Given the description of an element on the screen output the (x, y) to click on. 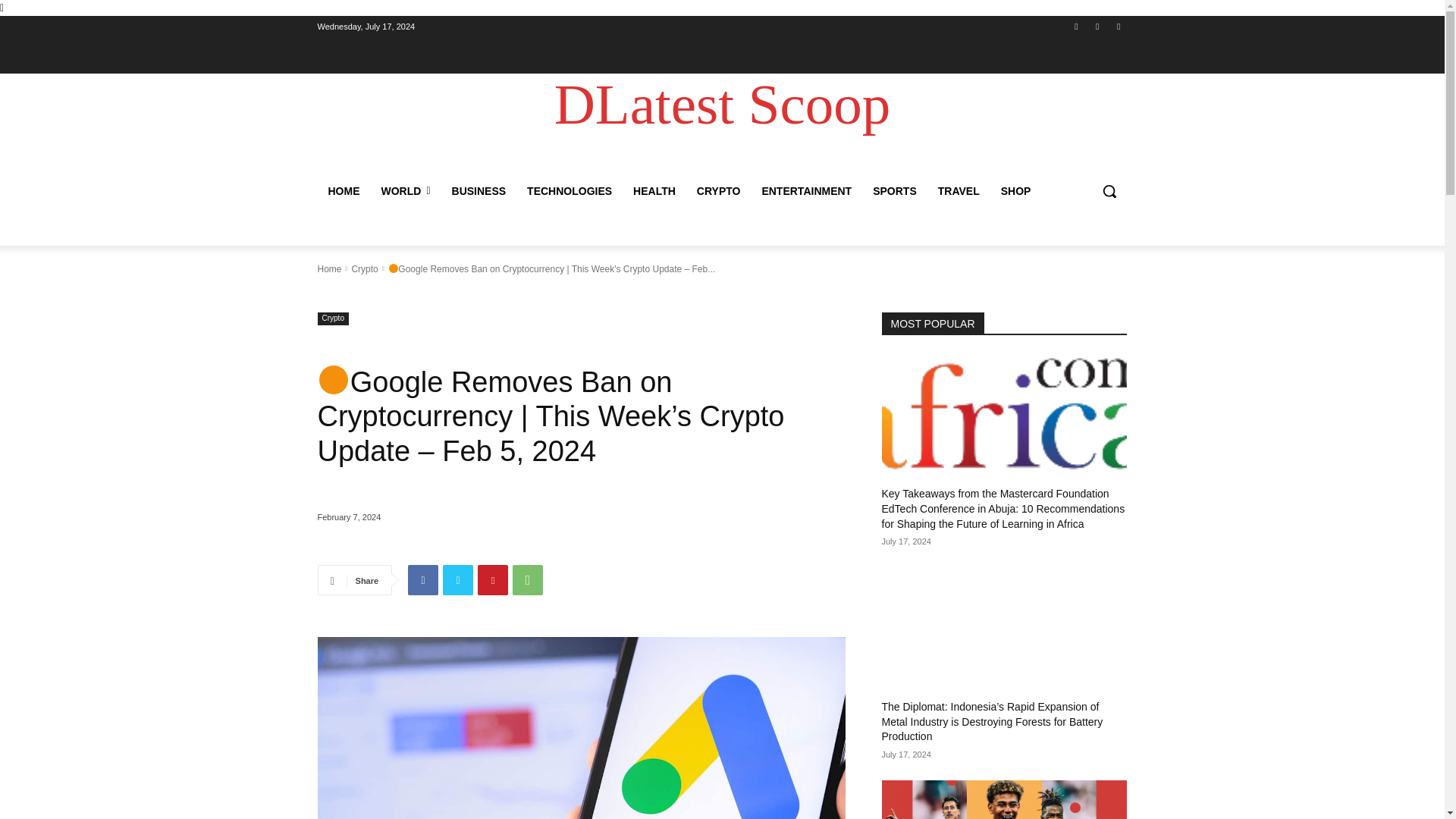
Instagram (1097, 27)
TECHNOLOGIES (569, 190)
Twitter (1117, 27)
WORLD (405, 190)
Facebook (1075, 27)
DLatest Scoop (721, 104)
SPORTS (894, 190)
ENTERTAINMENT (806, 190)
HEALTH (654, 190)
View all posts in Crypto (363, 268)
Home (328, 268)
BUSINESS (478, 190)
CRYPTO (718, 190)
Facebook (422, 580)
TRAVEL (958, 190)
